Given the description of an element on the screen output the (x, y) to click on. 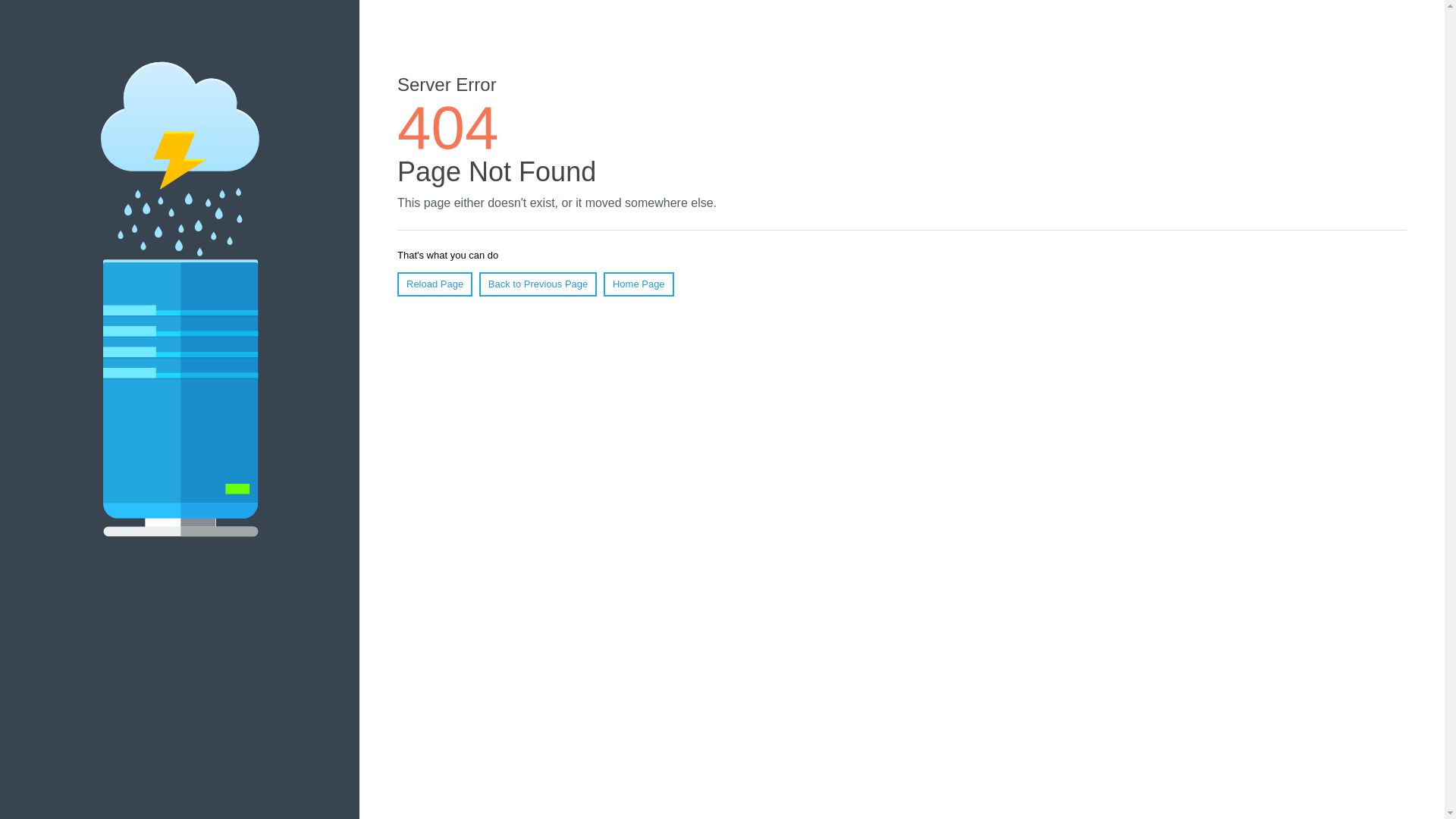
Home Page Element type: text (638, 284)
Reload Page Element type: text (434, 284)
Back to Previous Page Element type: text (538, 284)
